Given the description of an element on the screen output the (x, y) to click on. 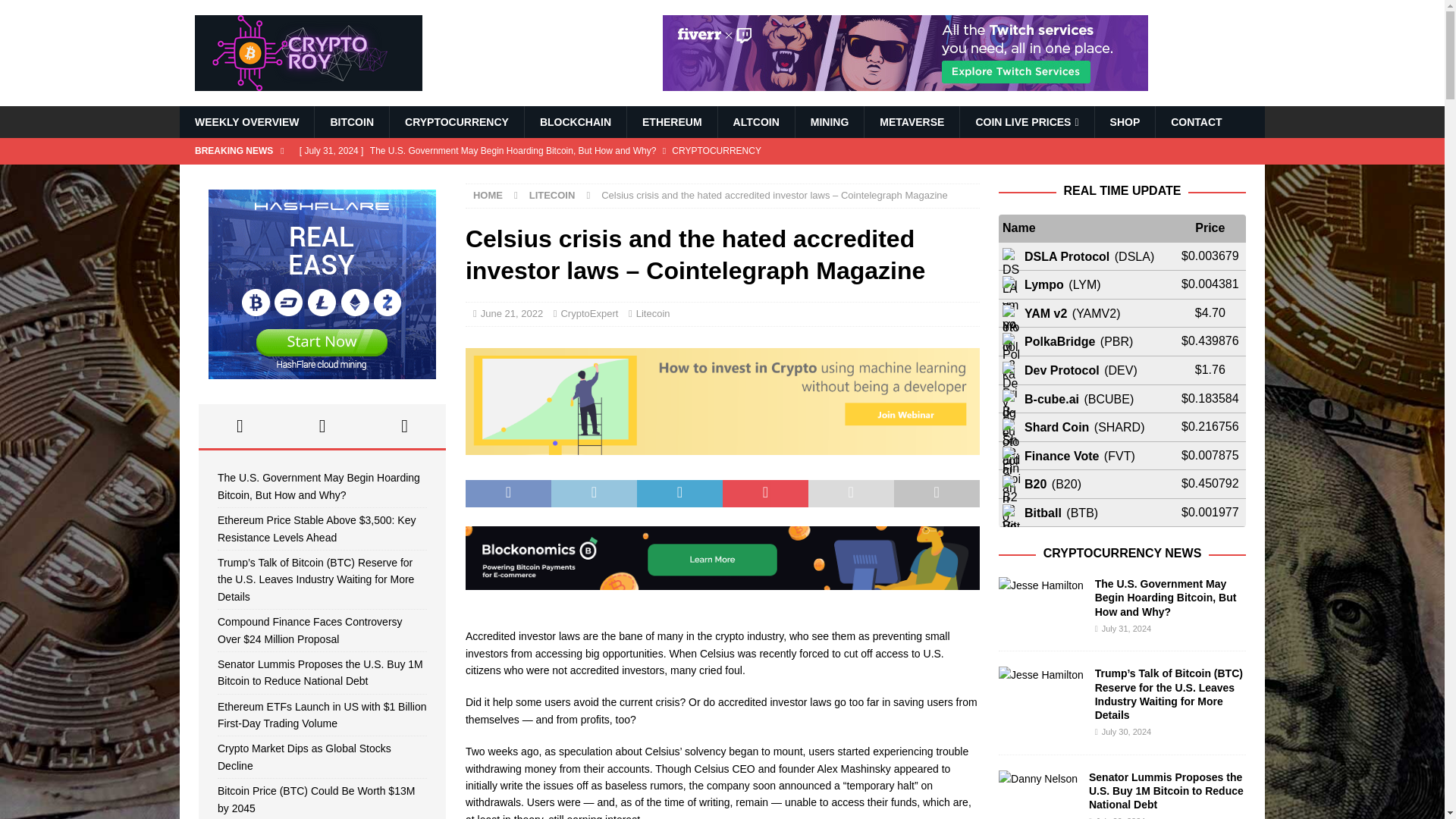
WEEKLY OVERVIEW (246, 122)
LITECOIN (552, 194)
CryptoExpert (588, 313)
MINING (829, 122)
BITCOIN (351, 122)
June 21, 2022 (511, 313)
Litecoin (652, 313)
HOME (487, 194)
SHOP (1125, 122)
ETHEREUM (671, 122)
CONTACT (1195, 122)
BLOCKCHAIN (575, 122)
METAVERSE (911, 122)
COIN LIVE PRICES (1026, 122)
